Given the description of an element on the screen output the (x, y) to click on. 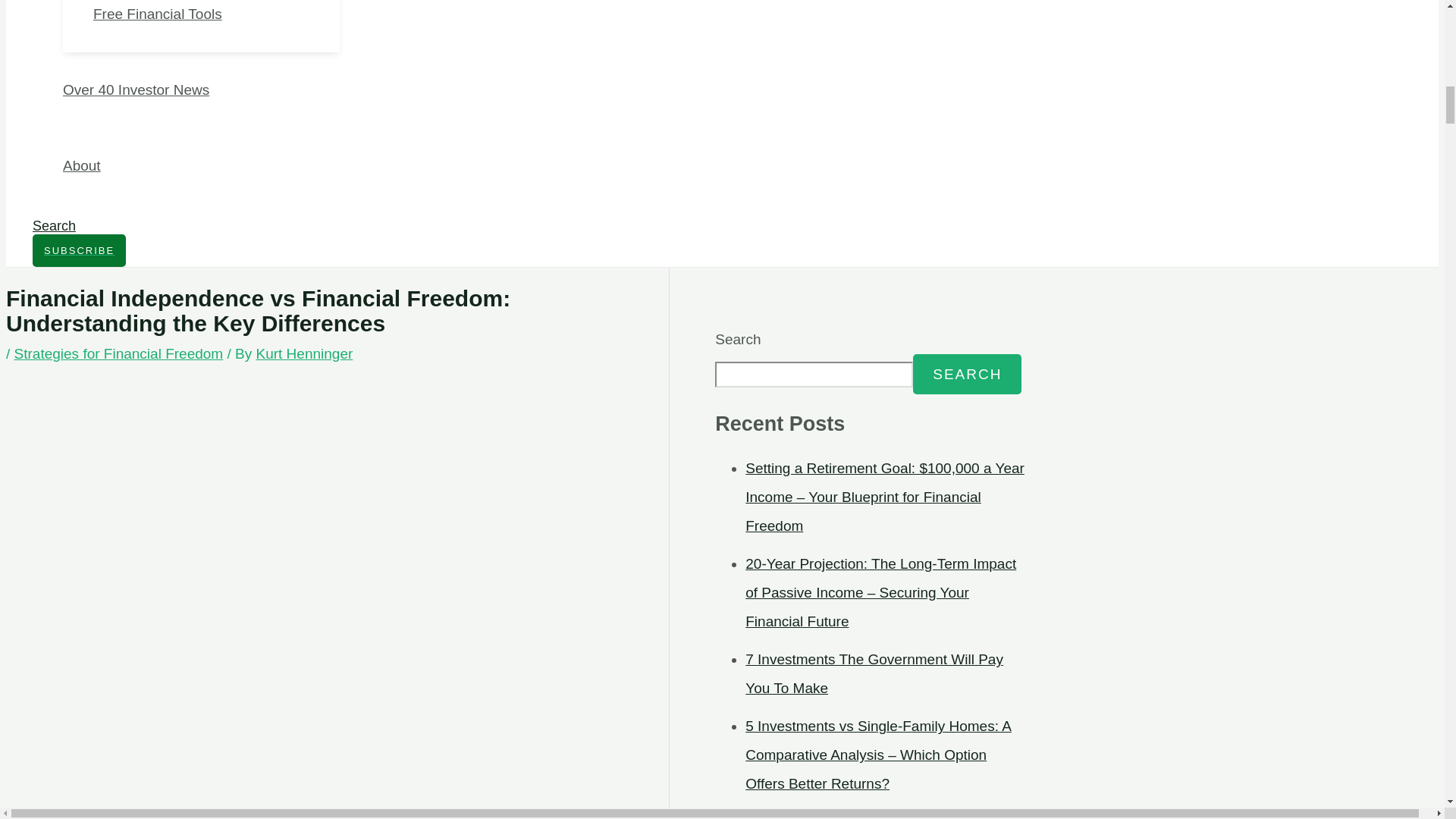
About (200, 165)
Over 40 Investor News (200, 89)
Strategies for Financial Freedom (119, 353)
SUBSCRIBE (78, 250)
View all posts by Kurt Henninger (304, 353)
Free Financial Tools (216, 26)
Search (53, 226)
Kurt Henninger (304, 353)
